Given the description of an element on the screen output the (x, y) to click on. 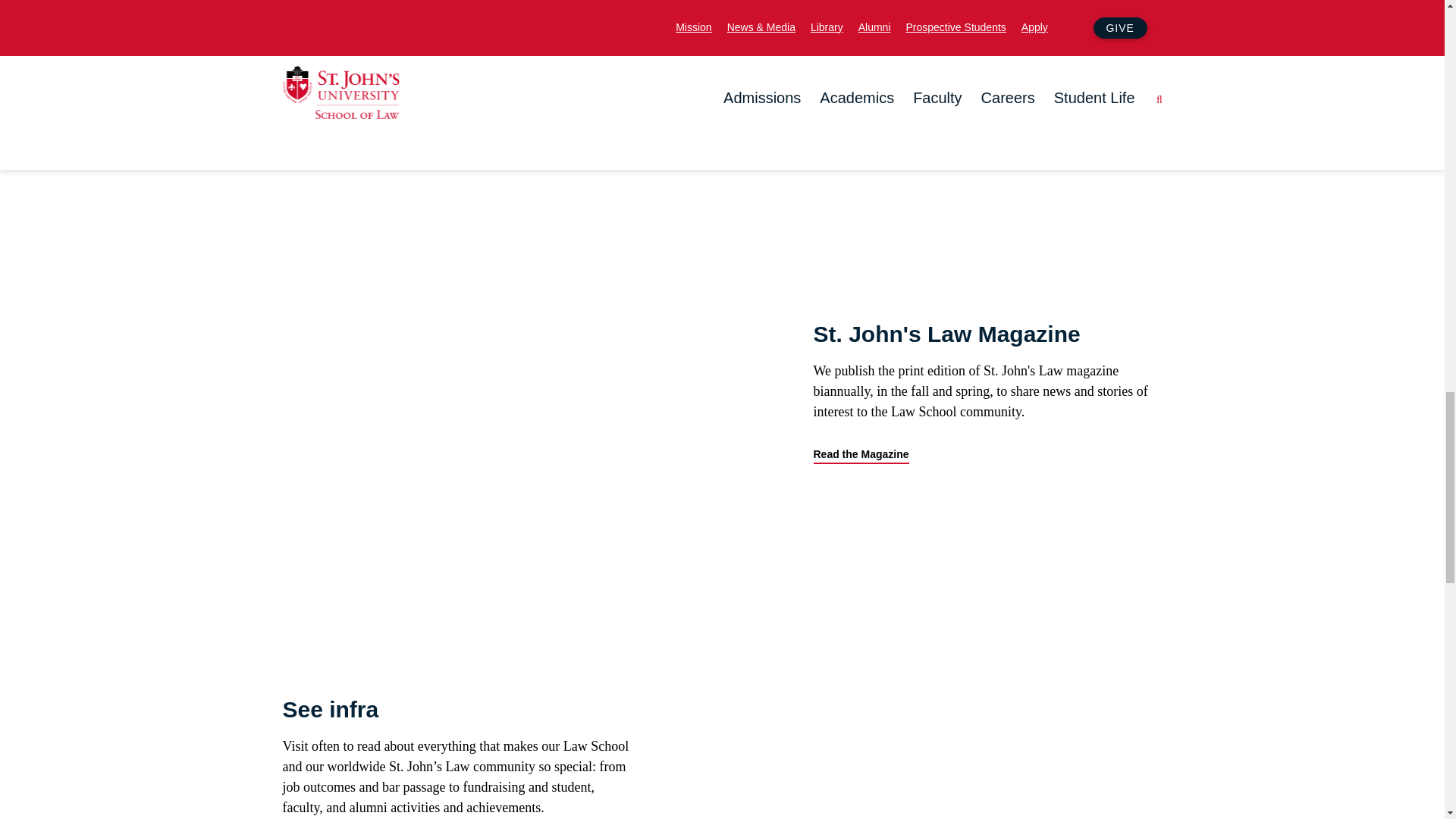
Law Commencement Female Student 360x260 (911, 707)
